Given the description of an element on the screen output the (x, y) to click on. 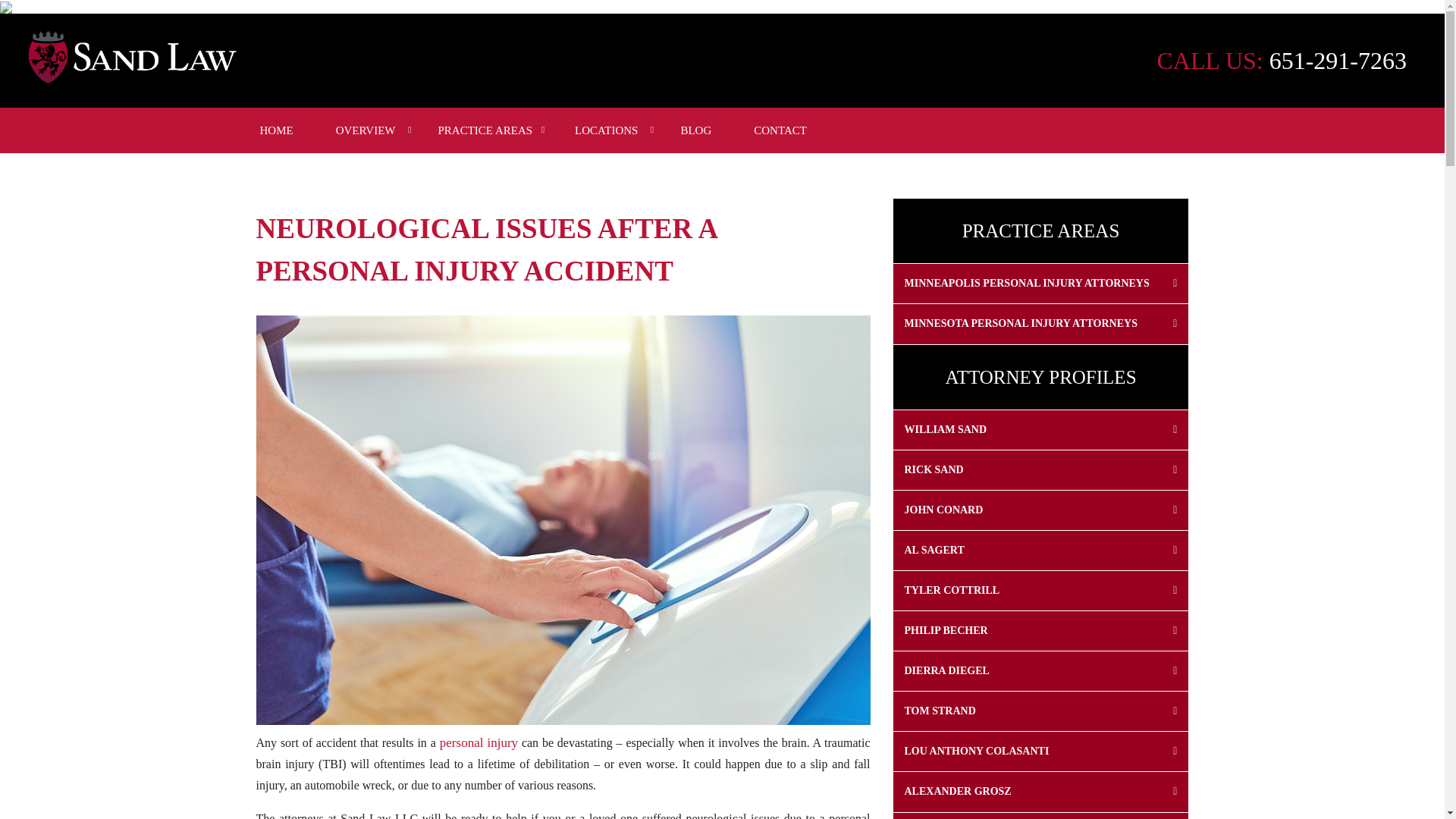
PRACTICE AREAS (484, 130)
LOCATIONS (605, 130)
OVERVIEW (365, 130)
CONTACT (780, 130)
HOME (275, 130)
651-291-7263 (1337, 60)
personal injury (476, 742)
BLOG (695, 130)
